Given the description of an element on the screen output the (x, y) to click on. 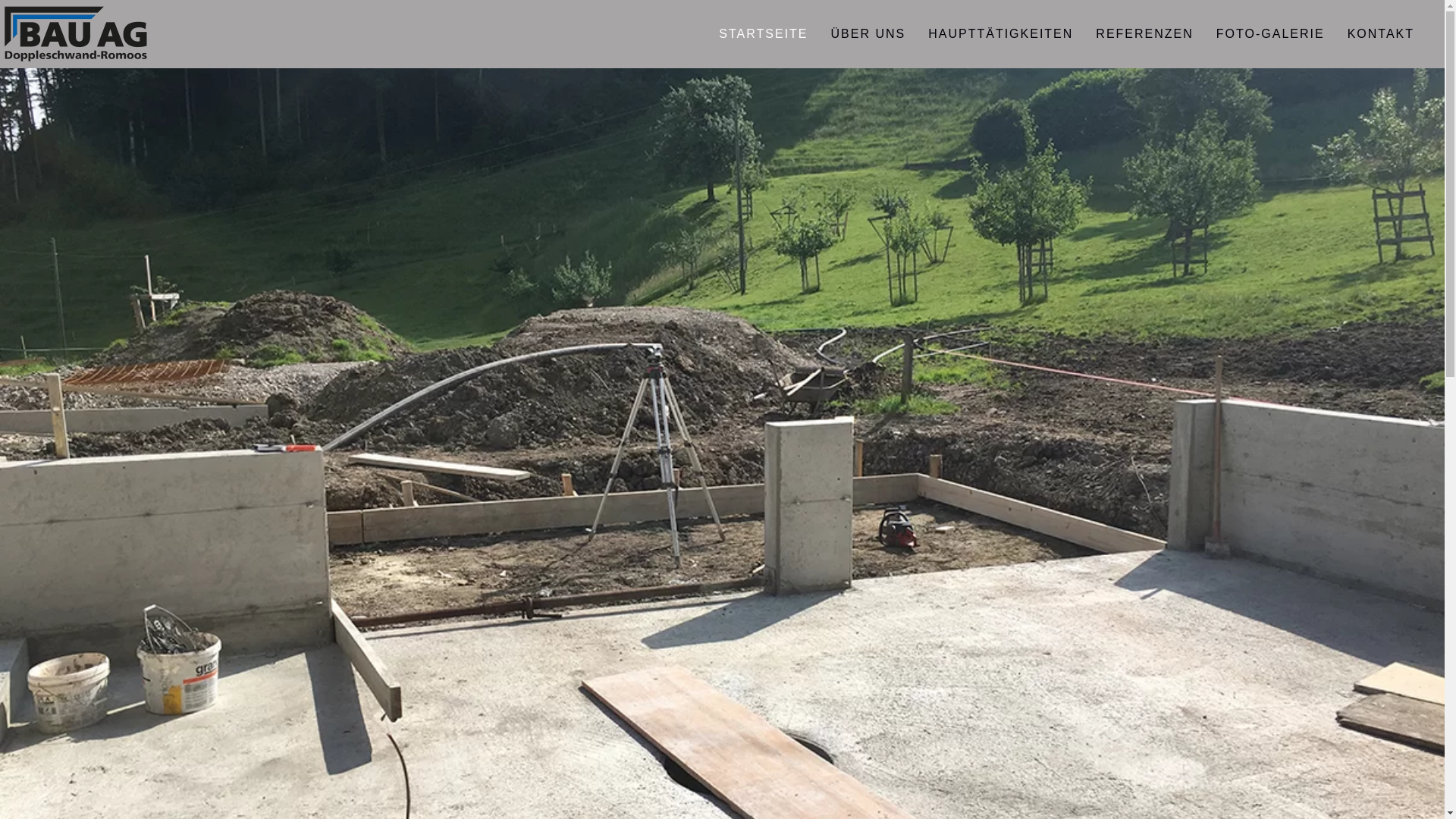
KONTAKT Element type: text (1380, 33)
FOTO-GALERIE Element type: text (1270, 33)
STARTSEITE Element type: text (762, 33)
REFERENZEN Element type: text (1143, 33)
